Given the description of an element on the screen output the (x, y) to click on. 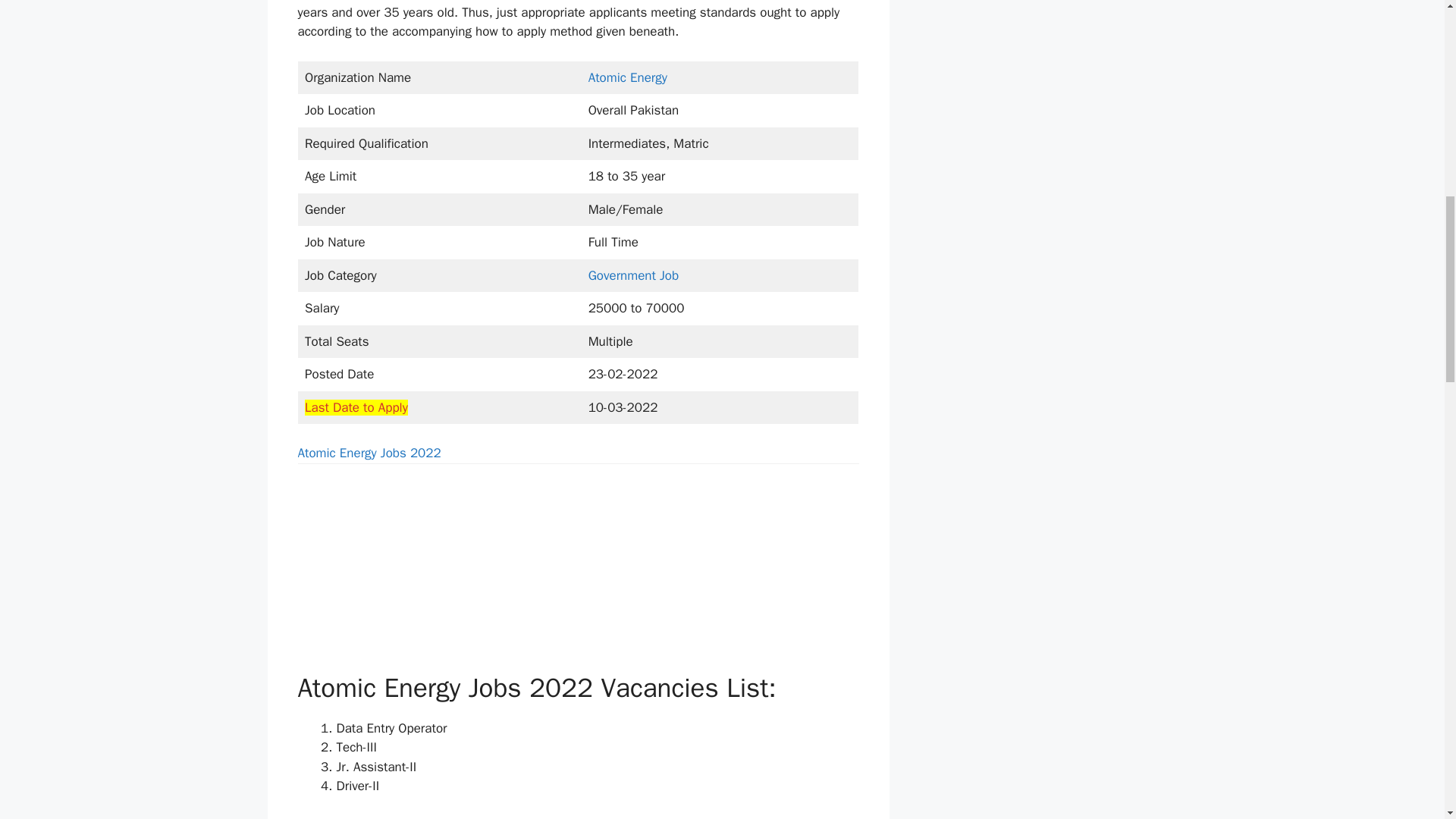
Atomic Energy (627, 77)
Atomic Energy Jobs 2022 (369, 453)
Government Job (633, 275)
